Given the description of an element on the screen output the (x, y) to click on. 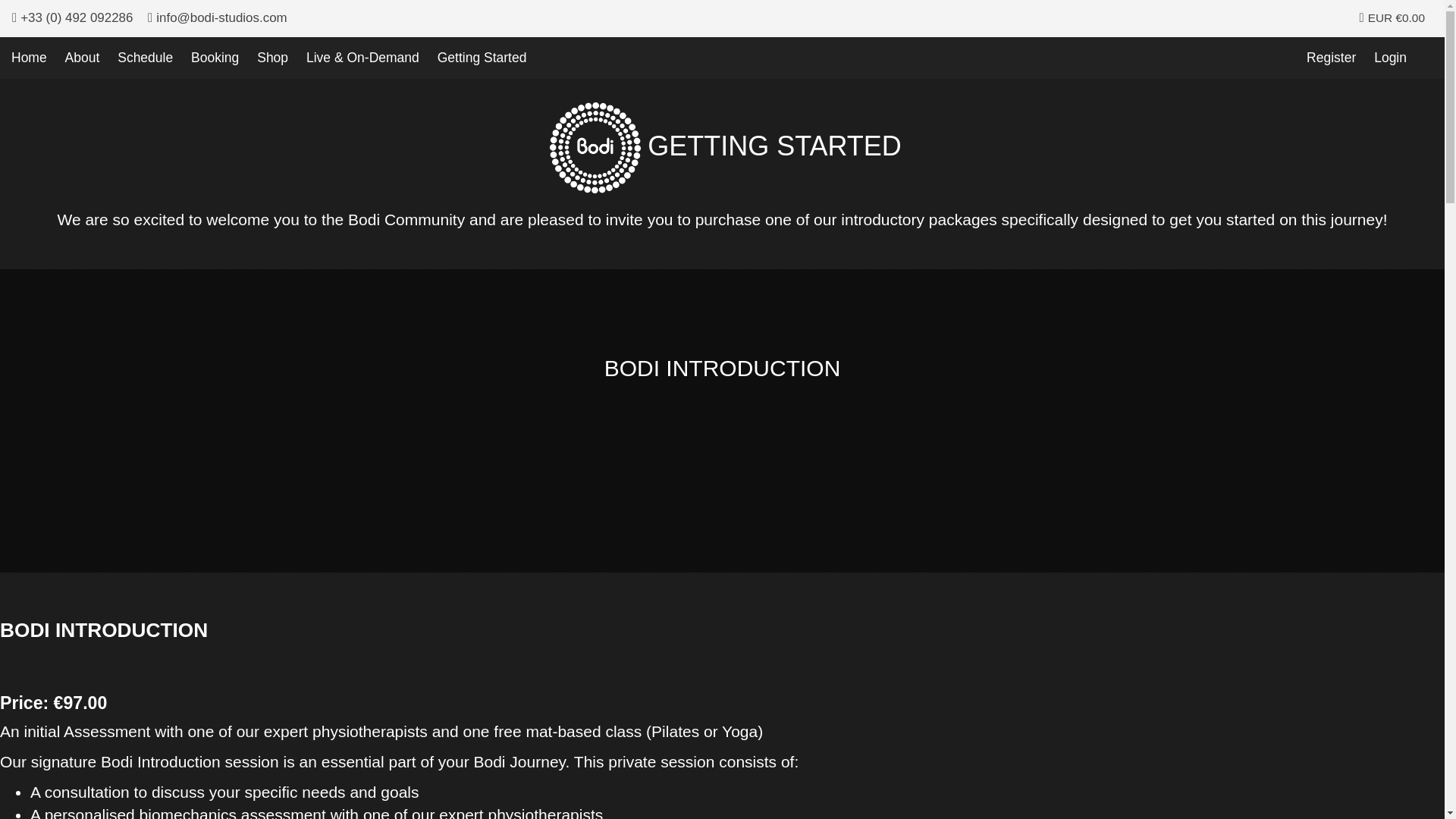
Shop (272, 57)
Booking (214, 57)
Home (28, 57)
About (82, 57)
Login (1390, 57)
Register (1330, 57)
Getting Started (482, 57)
Schedule (145, 57)
